Given the description of an element on the screen output the (x, y) to click on. 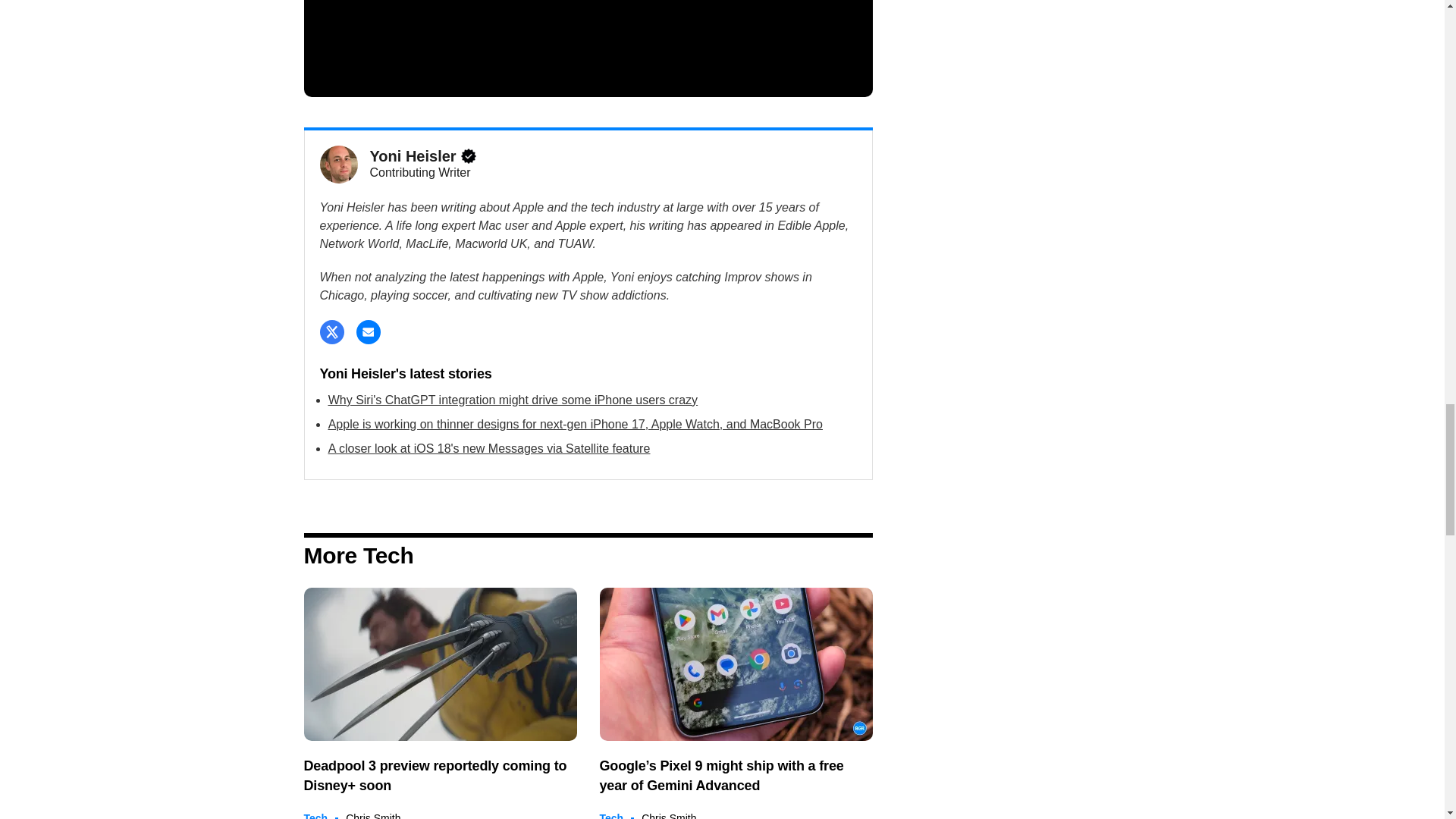
Deadpool 3 (439, 665)
Posts by Chris Smith (373, 815)
Posts by Chris Smith (668, 815)
Pixel 9 (735, 665)
